Given the description of an element on the screen output the (x, y) to click on. 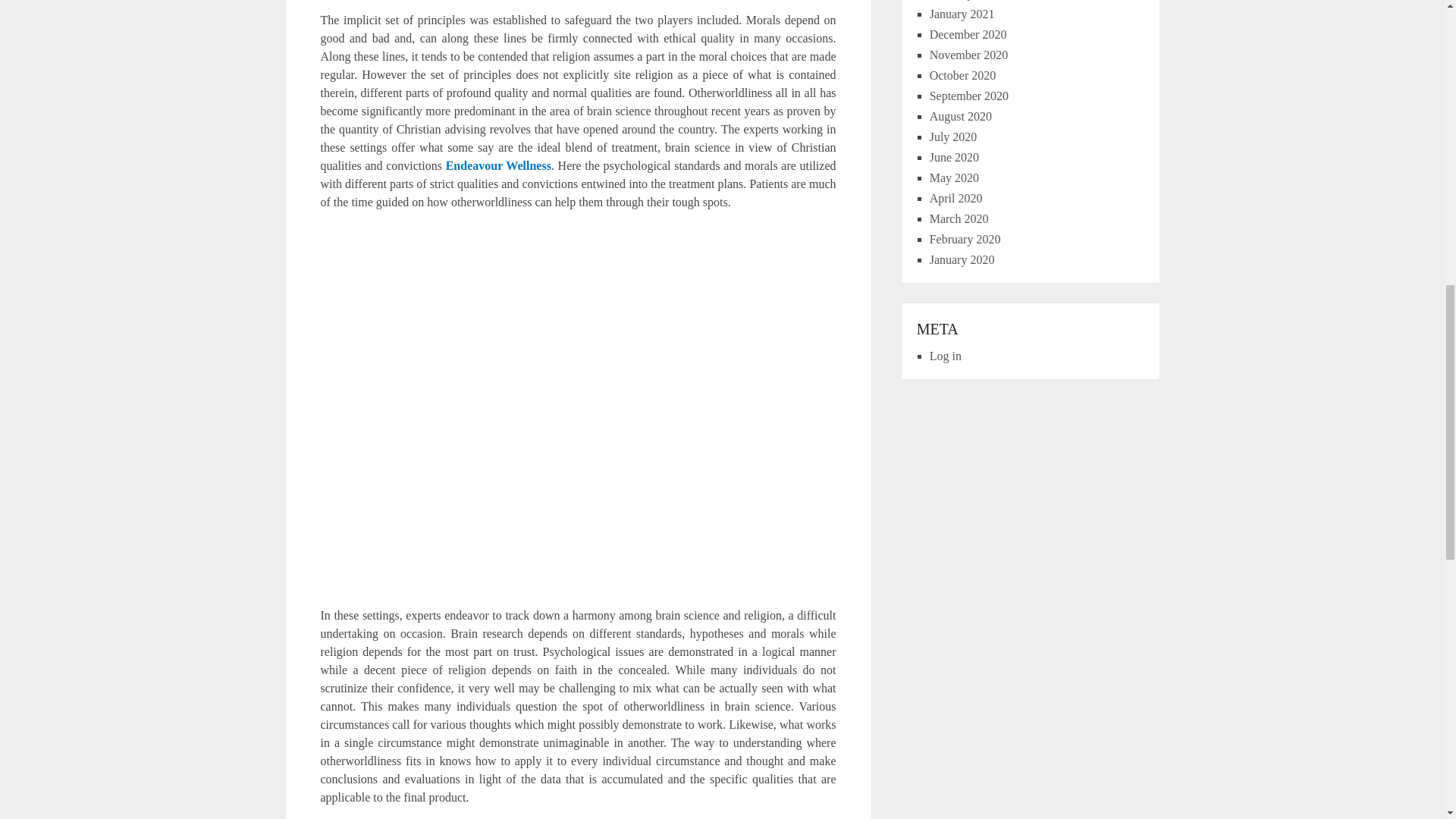
Endeavour Wellness (498, 164)
